Given the description of an element on the screen output the (x, y) to click on. 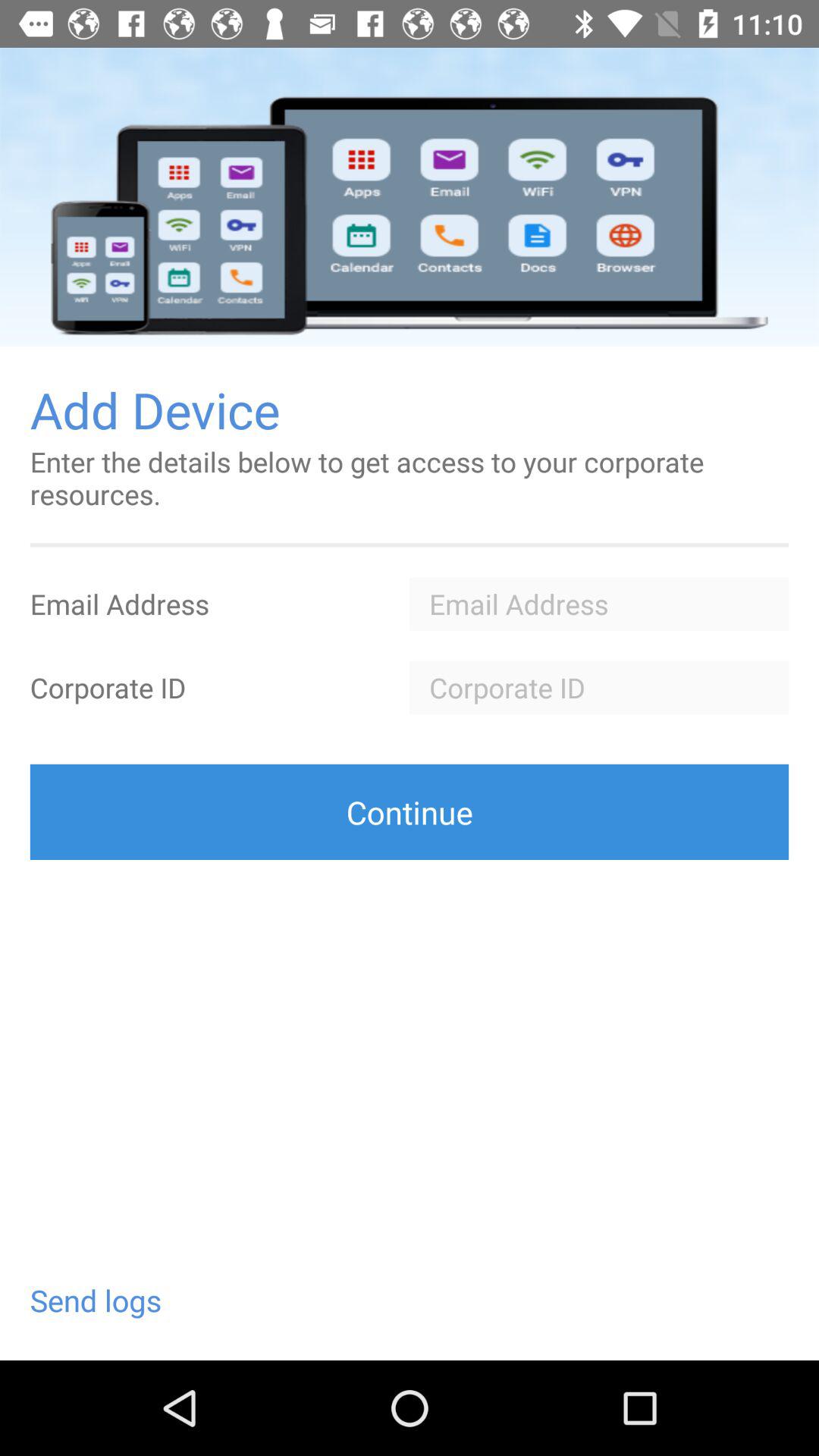
swipe until enter the details (409, 478)
